Given the description of an element on the screen output the (x, y) to click on. 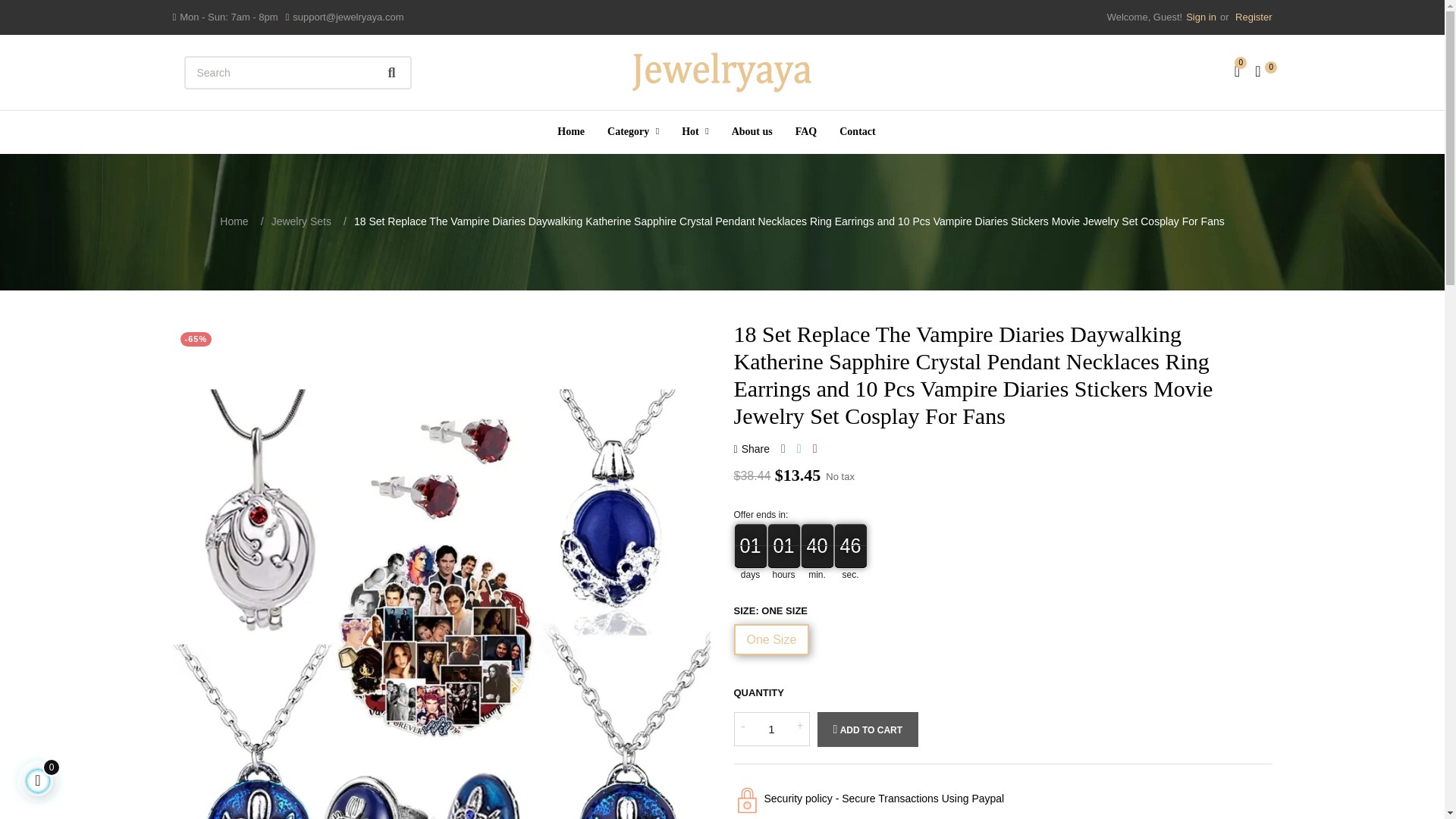
Log in to your customer account (1200, 16)
Sign in (1200, 16)
1 (771, 728)
 Register (1251, 16)
Register (1251, 16)
